Given the description of an element on the screen output the (x, y) to click on. 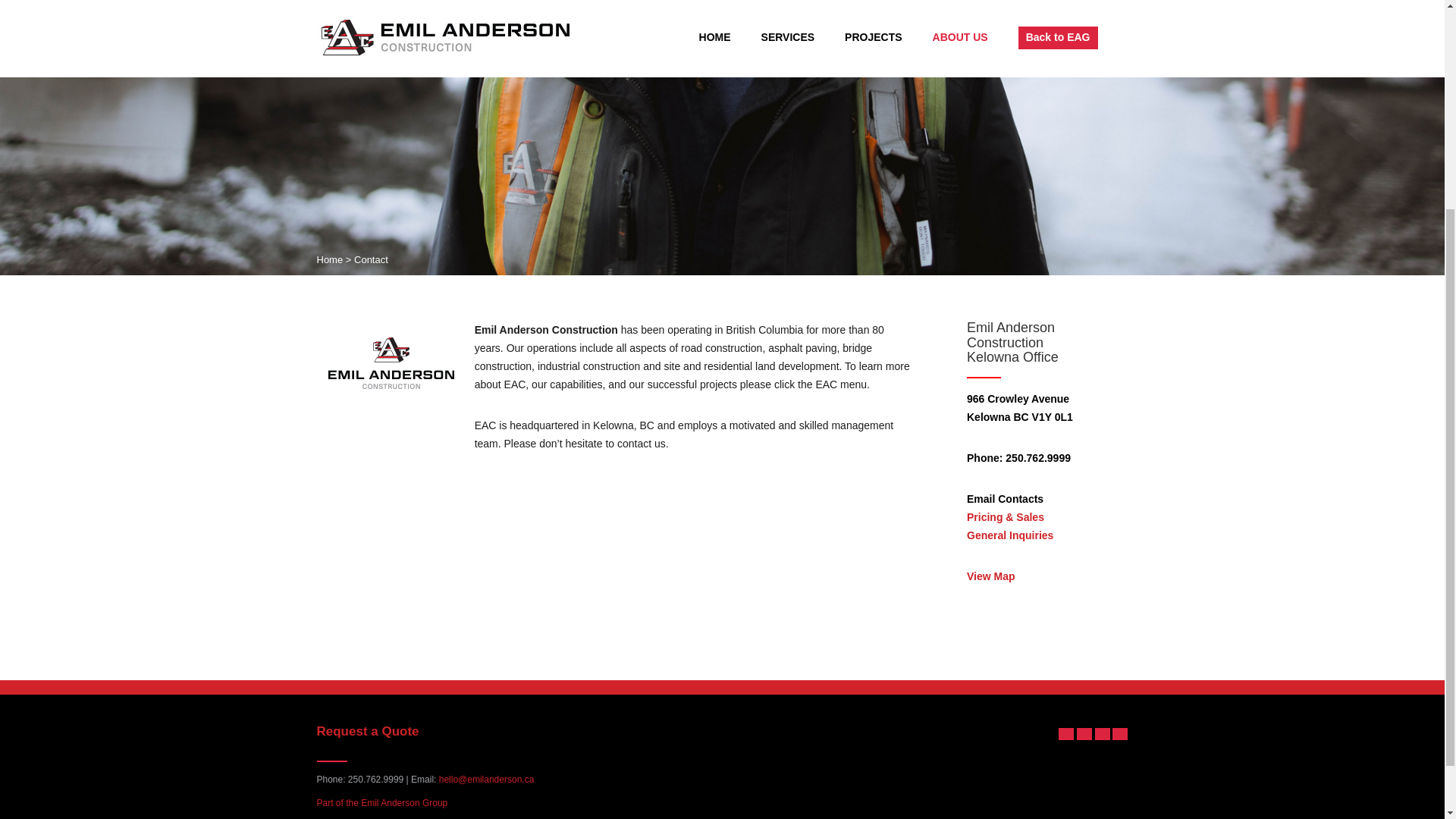
View Map (990, 576)
Request a Quote (368, 730)
Home (330, 259)
General Inquiries (1009, 535)
Part of the Emil Anderson Group (382, 802)
